Given the description of an element on the screen output the (x, y) to click on. 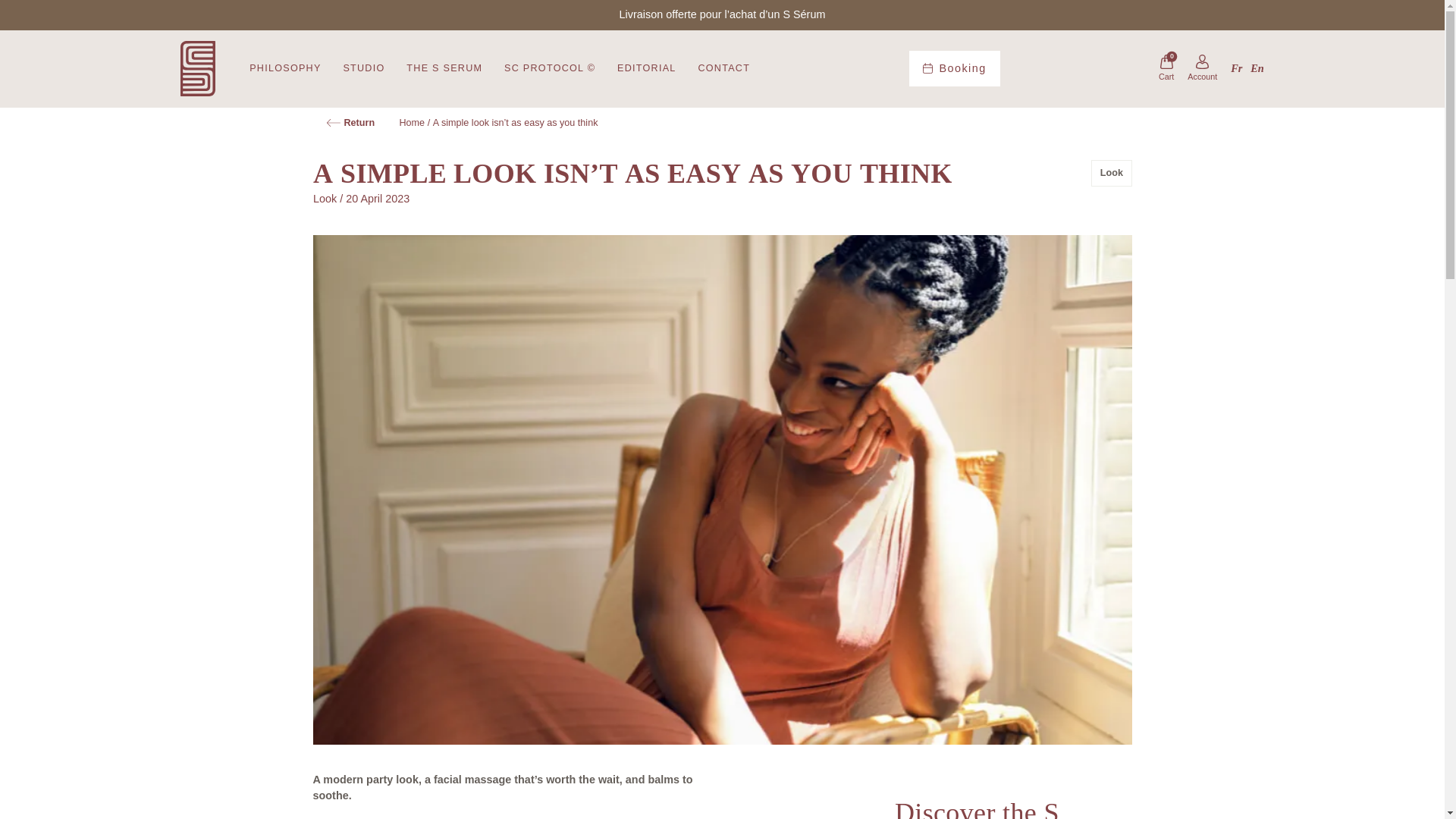
THE S SERUM (443, 68)
Accueil (350, 122)
Account (1202, 68)
Compte (1202, 68)
Home (411, 122)
En (1256, 68)
PHILOSOPHY (284, 68)
Booking (953, 68)
CONTACT (723, 68)
Return (350, 122)
